Given the description of an element on the screen output the (x, y) to click on. 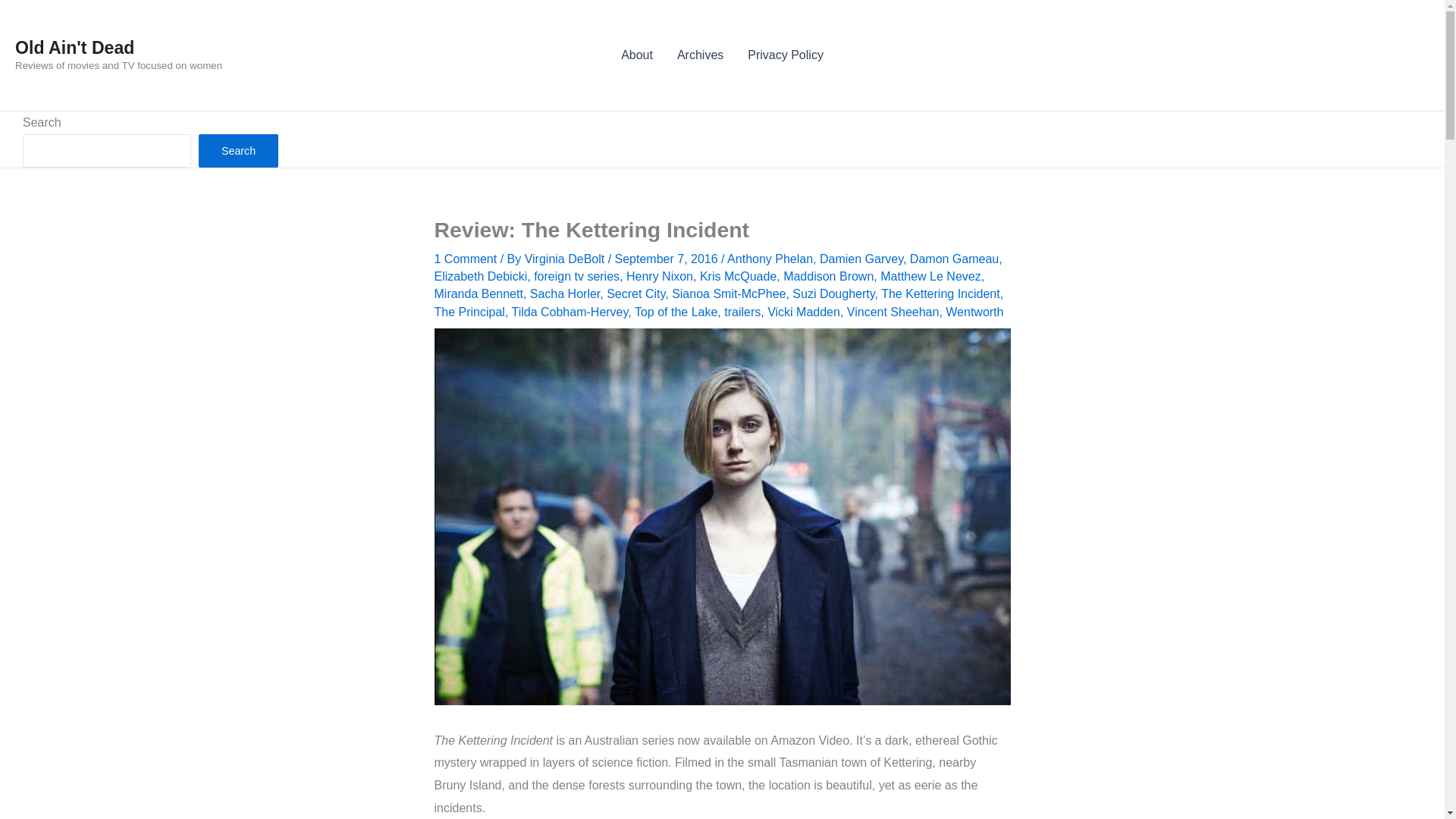
Privacy Policy (785, 55)
The Kettering Incident (940, 293)
Search (238, 150)
Miranda Bennett (477, 293)
Old Ain't Dead (73, 47)
Vicki Madden (803, 311)
Matthew Le Nevez (930, 276)
Damon Gameau (954, 258)
foreign tv series (577, 276)
Sacha Horler (564, 293)
